Given the description of an element on the screen output the (x, y) to click on. 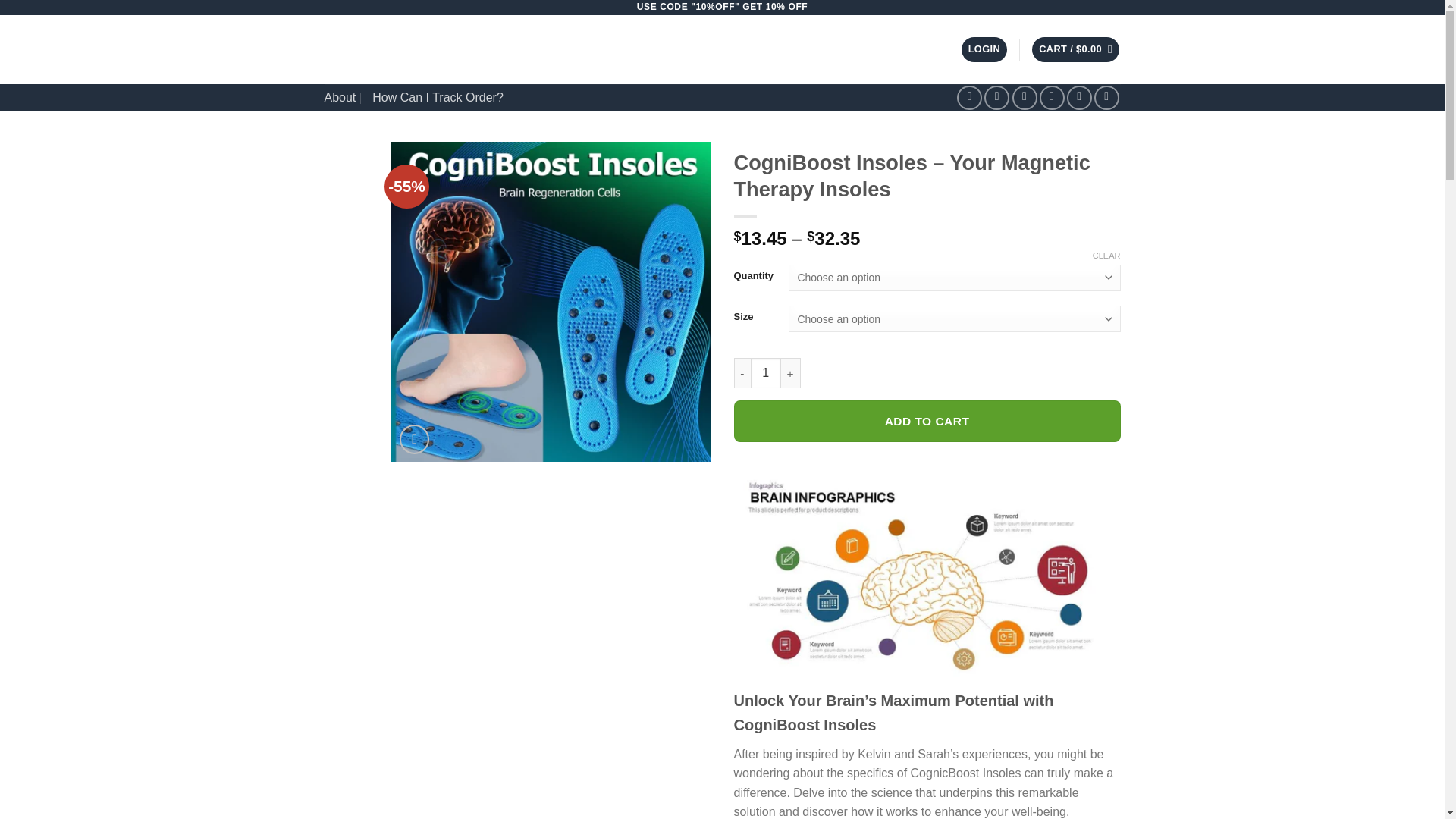
LOGIN (983, 49)
Follow on Pinterest (1079, 97)
Cart (1075, 49)
Follow on Twitter (1023, 97)
Wizzgoo Shop (457, 49)
How Can I Track Order? (437, 97)
Send us an email (1051, 97)
Follow on Facebook (968, 97)
About (340, 97)
Zoom (413, 439)
